Given the description of an element on the screen output the (x, y) to click on. 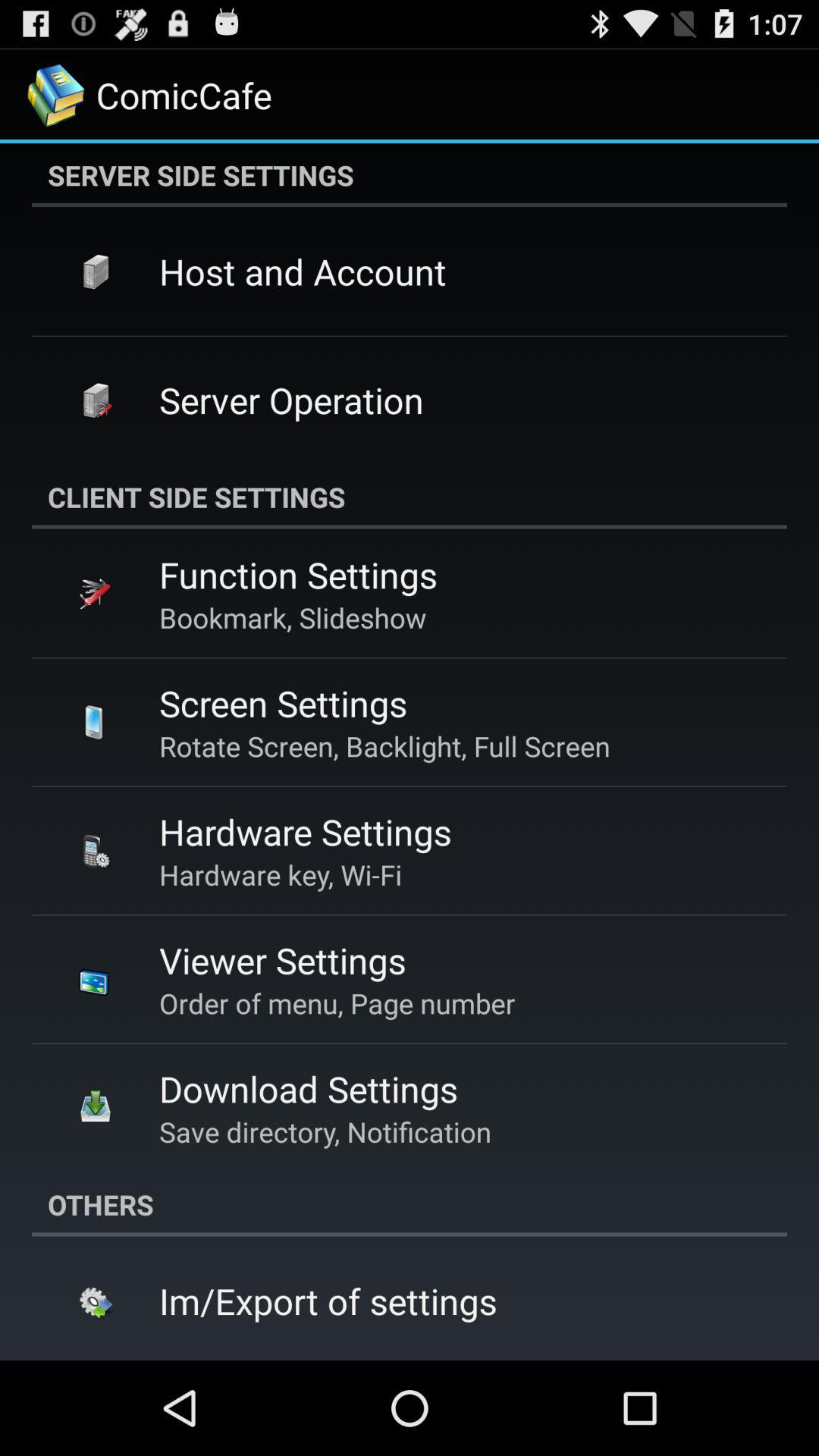
flip to function settings app (298, 574)
